Given the description of an element on the screen output the (x, y) to click on. 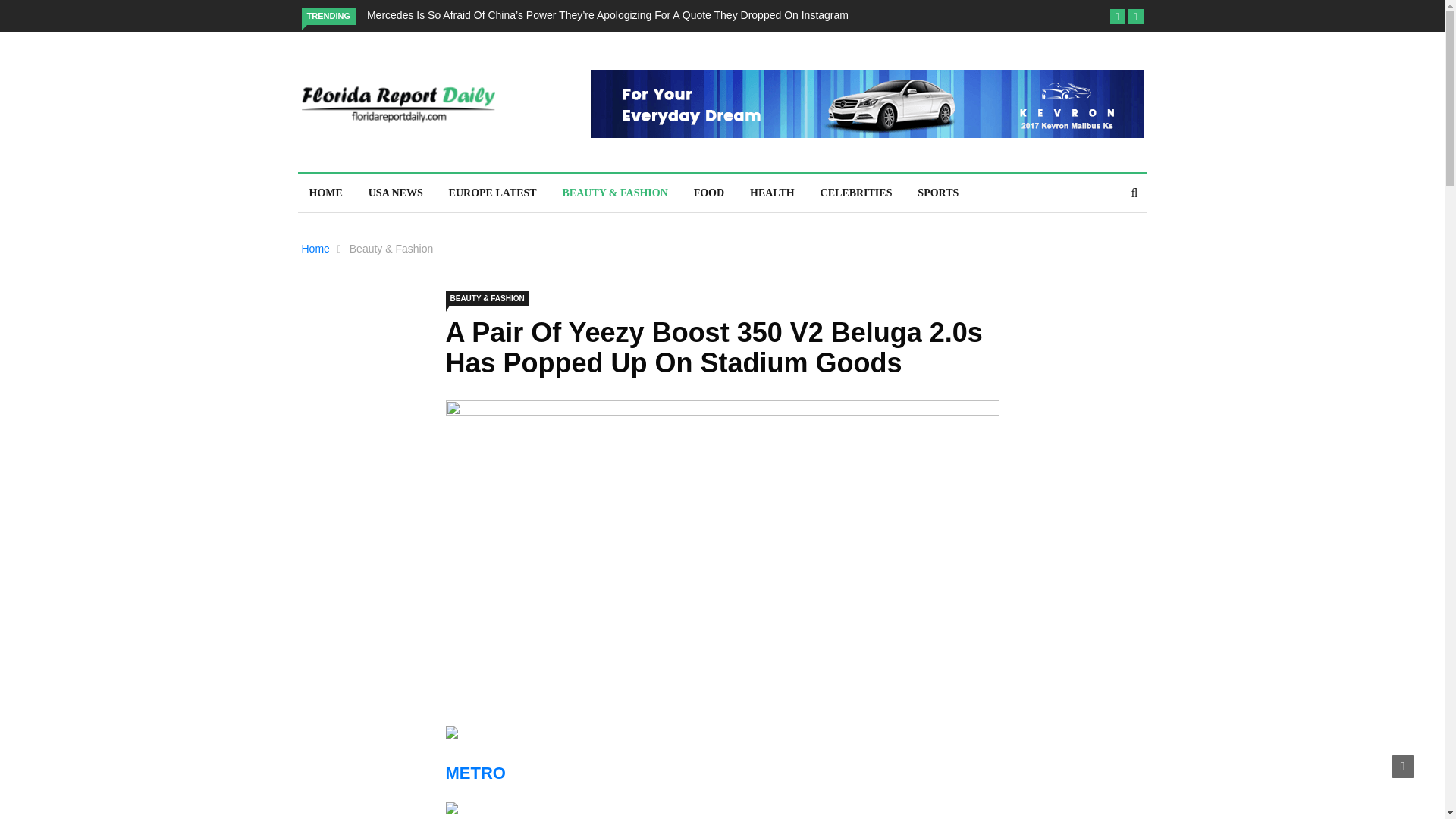
Home (315, 248)
HEALTH (772, 193)
SPORTS (937, 193)
CELEBRITIES (856, 193)
HOME (325, 193)
FOOD (708, 193)
METRO (475, 772)
logo (398, 105)
USA NEWS (394, 193)
EUROPE LATEST (493, 193)
